Given the description of an element on the screen output the (x, y) to click on. 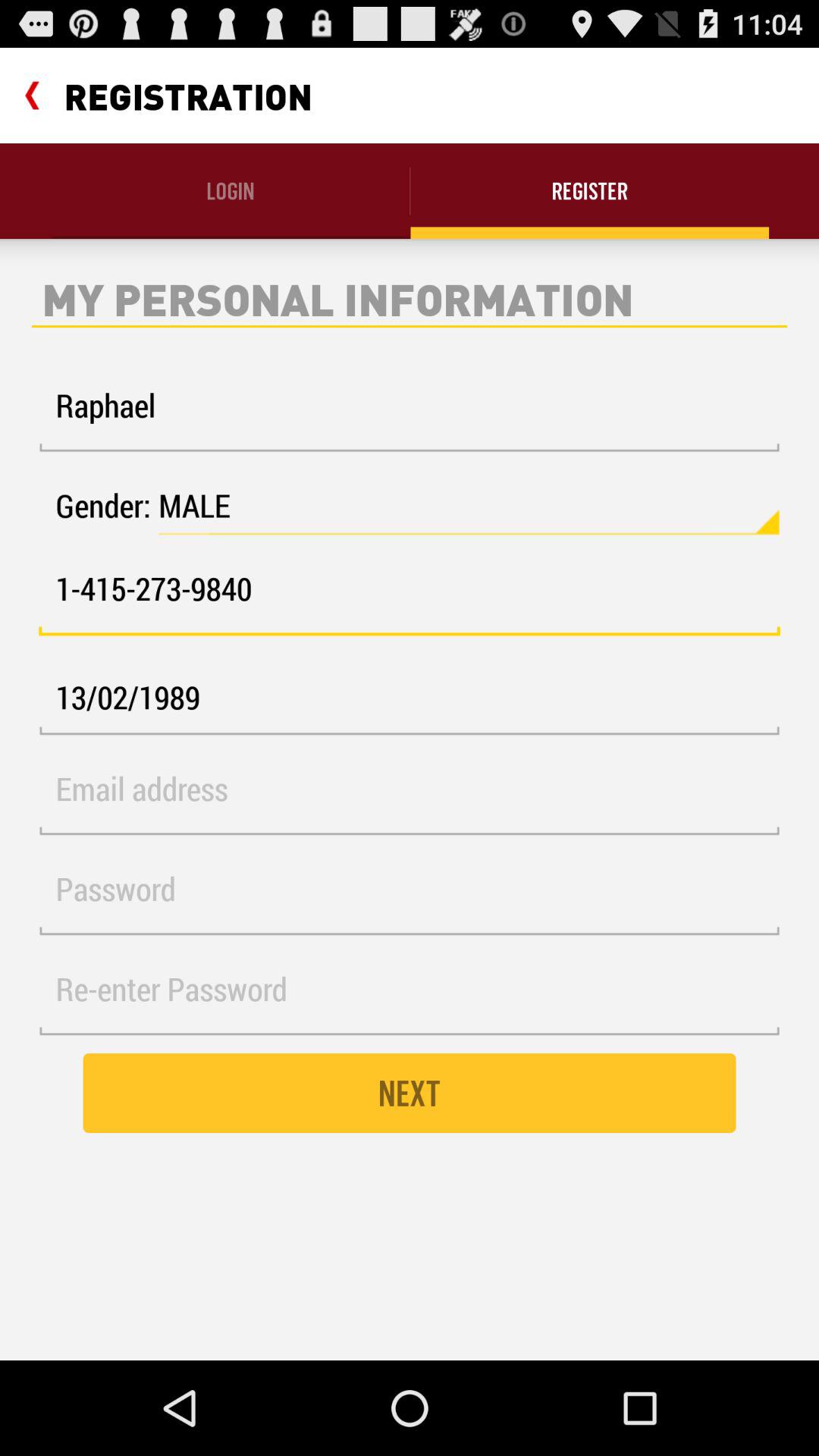
flip until male icon (468, 505)
